Given the description of an element on the screen output the (x, y) to click on. 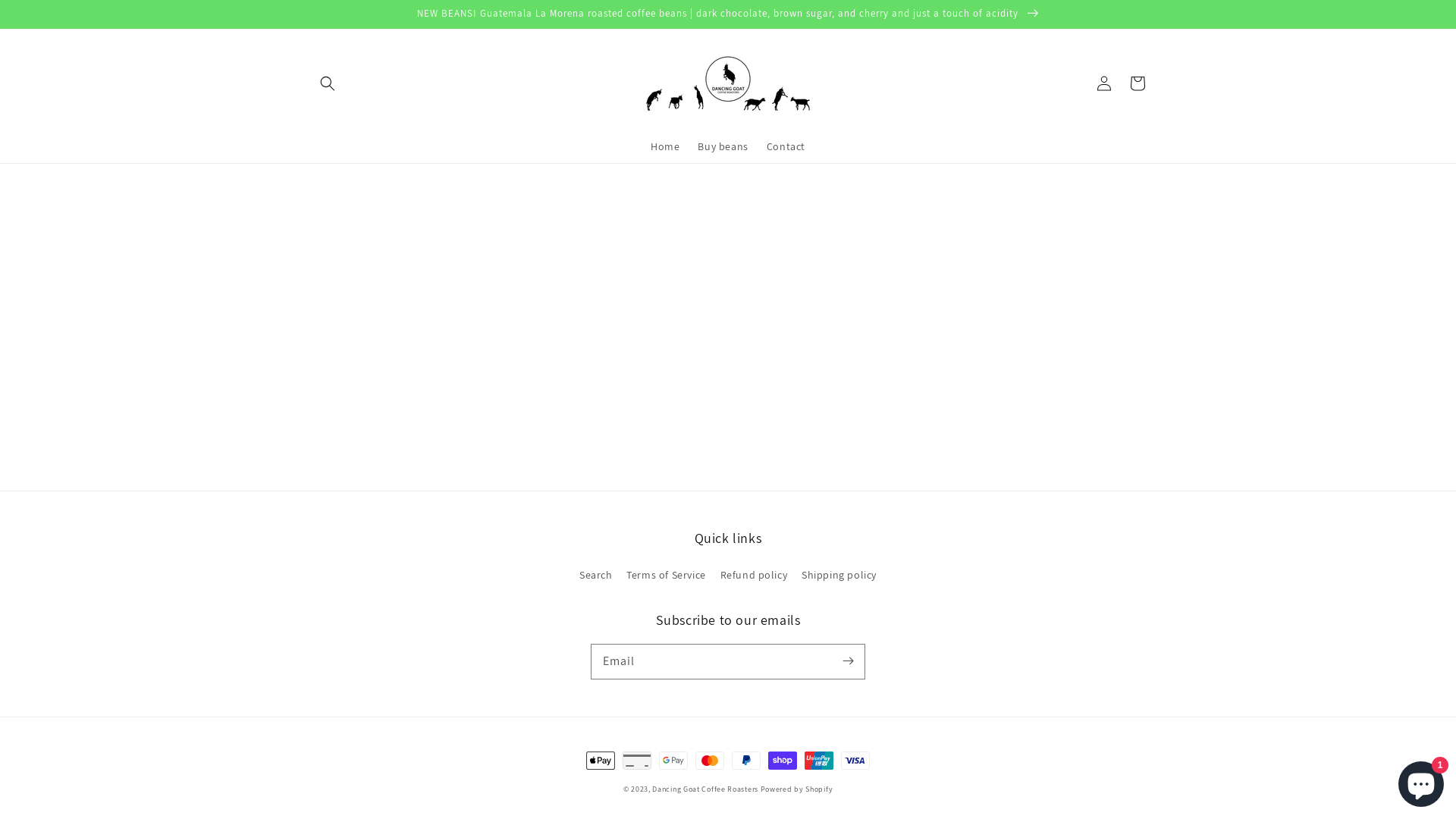
Shopify online store chat Element type: hover (1420, 780)
Contact Element type: text (785, 146)
Dancing Goat Coffee Roasters Element type: text (705, 788)
Cart Element type: text (1137, 83)
Log in Element type: text (1103, 83)
Buy beans Element type: text (722, 146)
Shipping policy Element type: text (838, 574)
Search Element type: text (595, 576)
Home Element type: text (664, 146)
Powered by Shopify Element type: text (796, 788)
Terms of Service Element type: text (666, 574)
Refund policy Element type: text (753, 574)
